Given the description of an element on the screen output the (x, y) to click on. 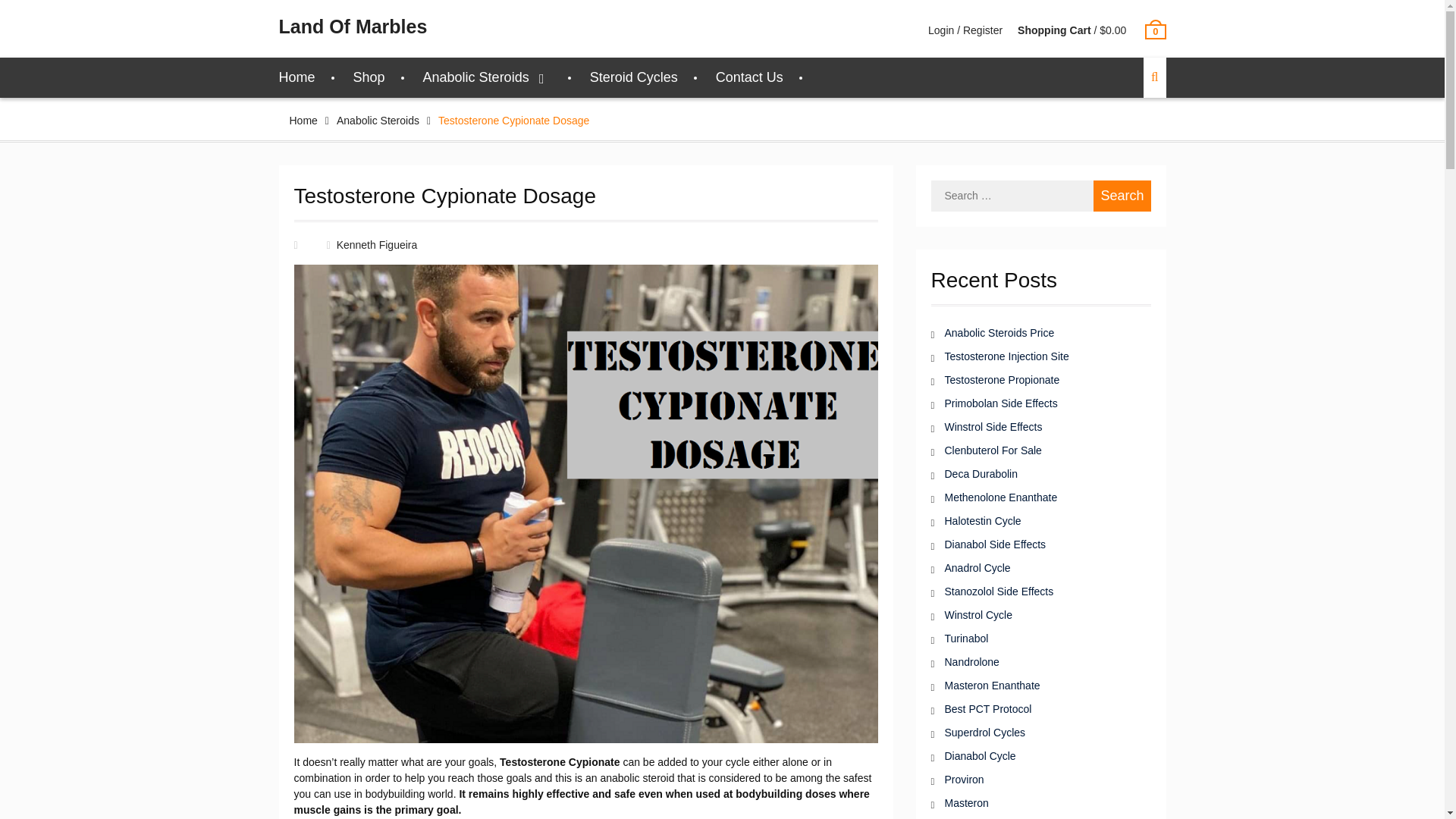
Land Of Marbles (353, 25)
Search (1121, 195)
Contact Us (749, 77)
Search (1121, 195)
Home (297, 77)
Steroid Cycles (633, 77)
Anabolic Steroids (487, 77)
